Given the description of an element on the screen output the (x, y) to click on. 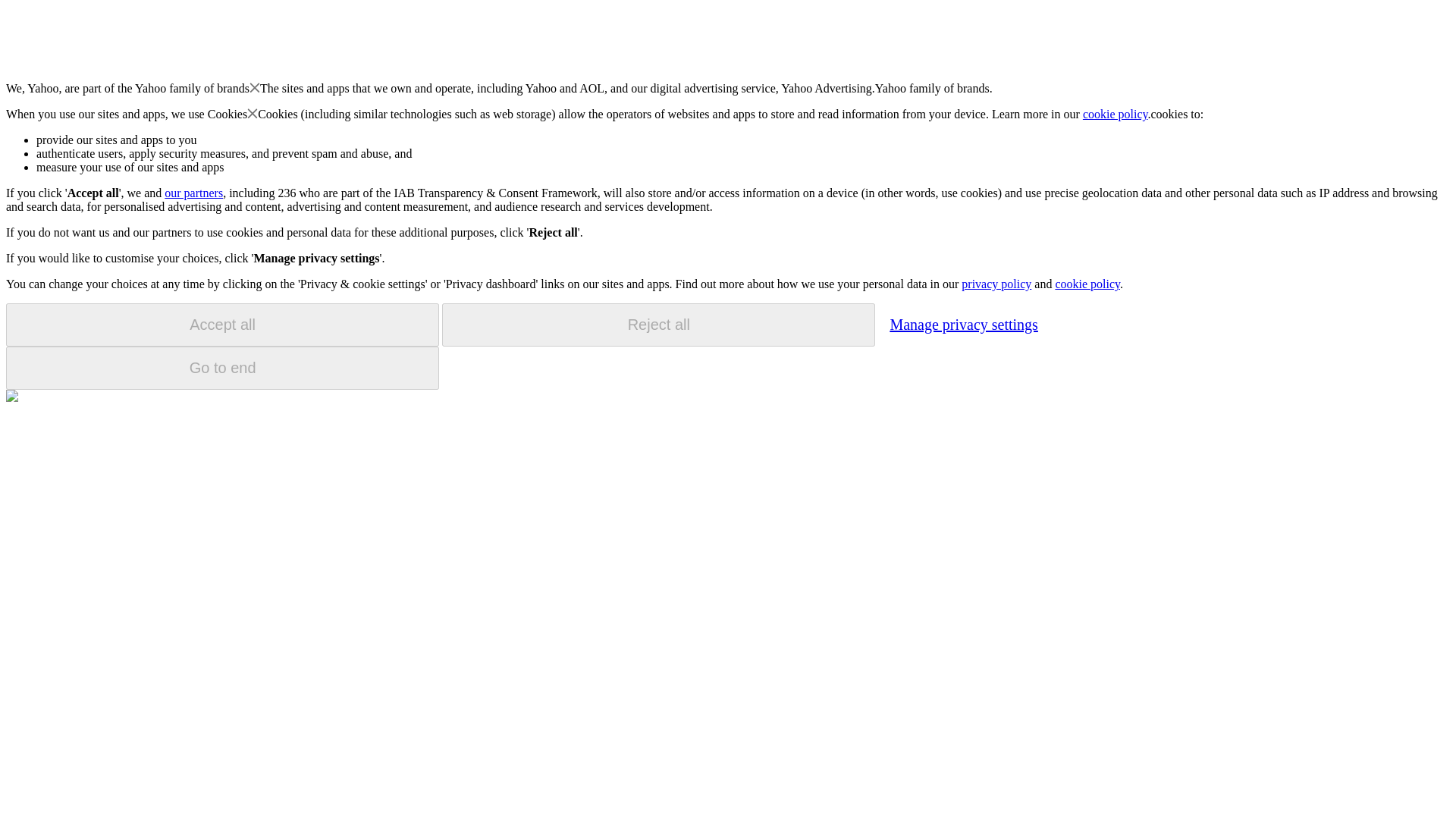
Accept all (222, 324)
Reject all (658, 324)
Manage privacy settings (963, 323)
cookie policy (1115, 113)
cookie policy (1086, 283)
Go to end (222, 367)
our partners (193, 192)
privacy policy (995, 283)
